Given the description of an element on the screen output the (x, y) to click on. 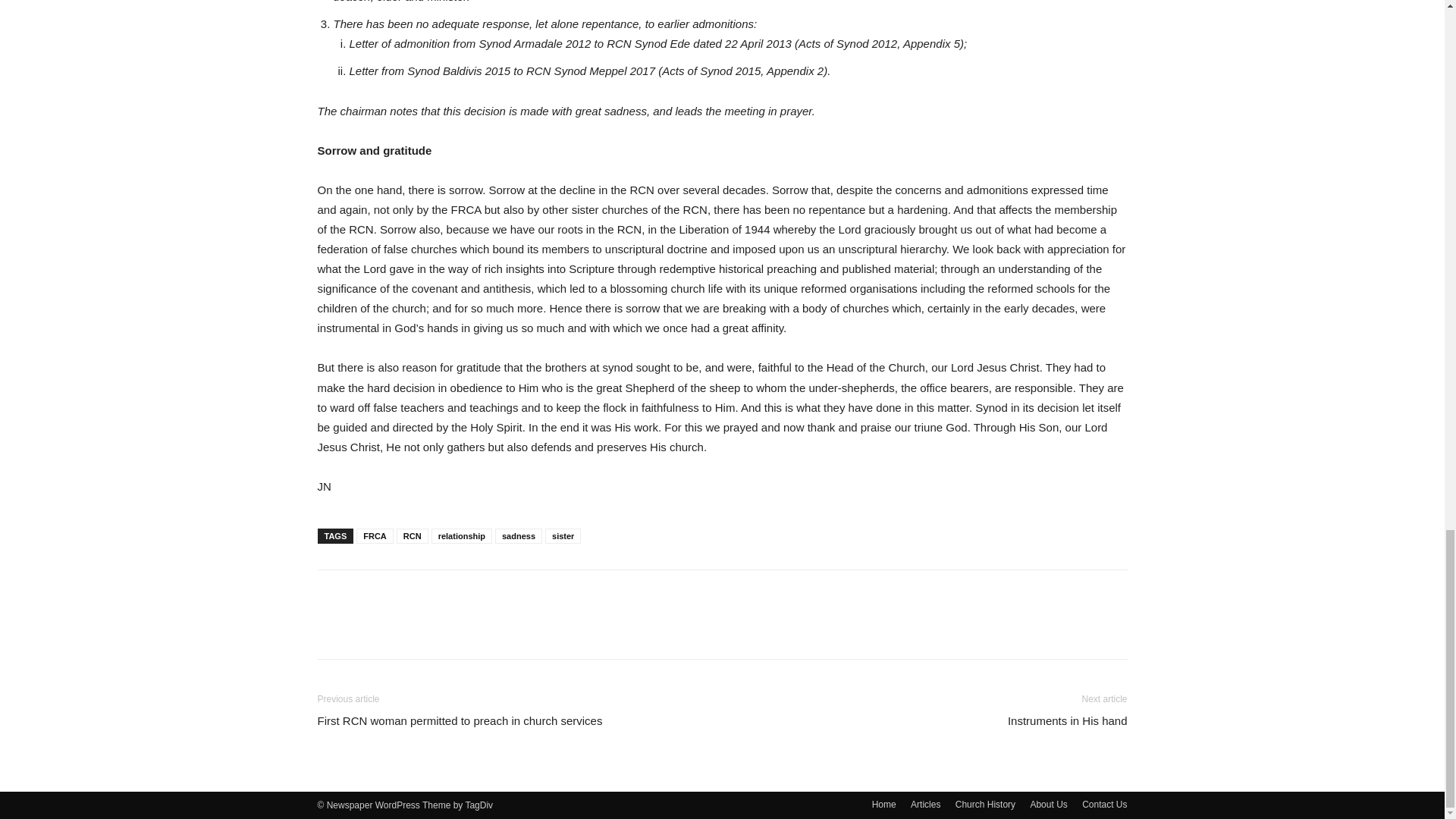
bottomFacebookLike (430, 593)
sadness (518, 535)
RCN (412, 535)
FRCA (374, 535)
relationship (461, 535)
sister (562, 535)
